Given the description of an element on the screen output the (x, y) to click on. 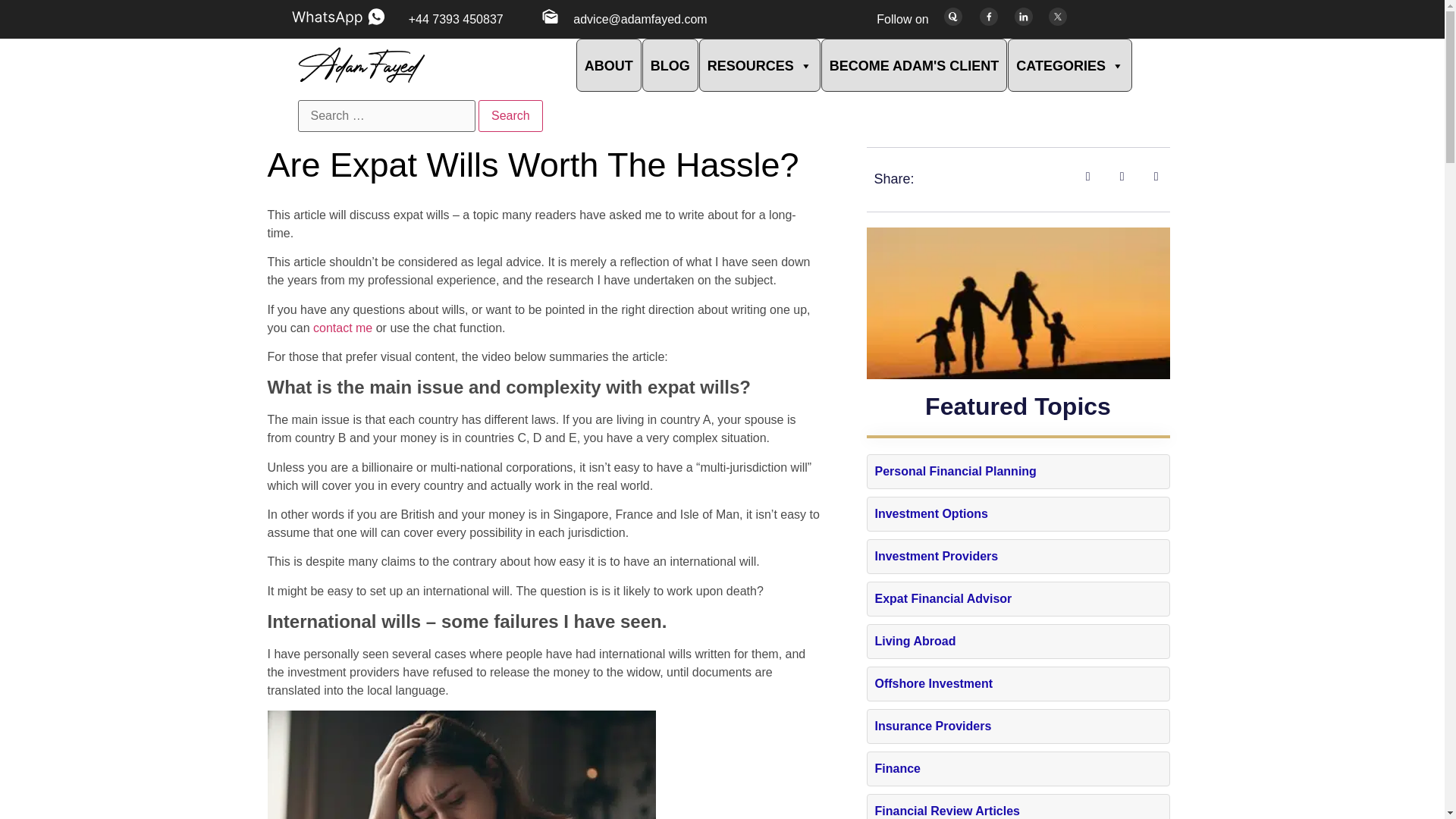
Search (511, 115)
Search (511, 115)
RESOURCES (759, 64)
Are Expat Wills Worth the Hassle? 1 (460, 764)
Search (511, 115)
CATEGORIES (1069, 64)
contact me (342, 327)
BECOME ADAM'S CLIENT (914, 64)
BLOG (670, 64)
ABOUT (609, 64)
